Given the description of an element on the screen output the (x, y) to click on. 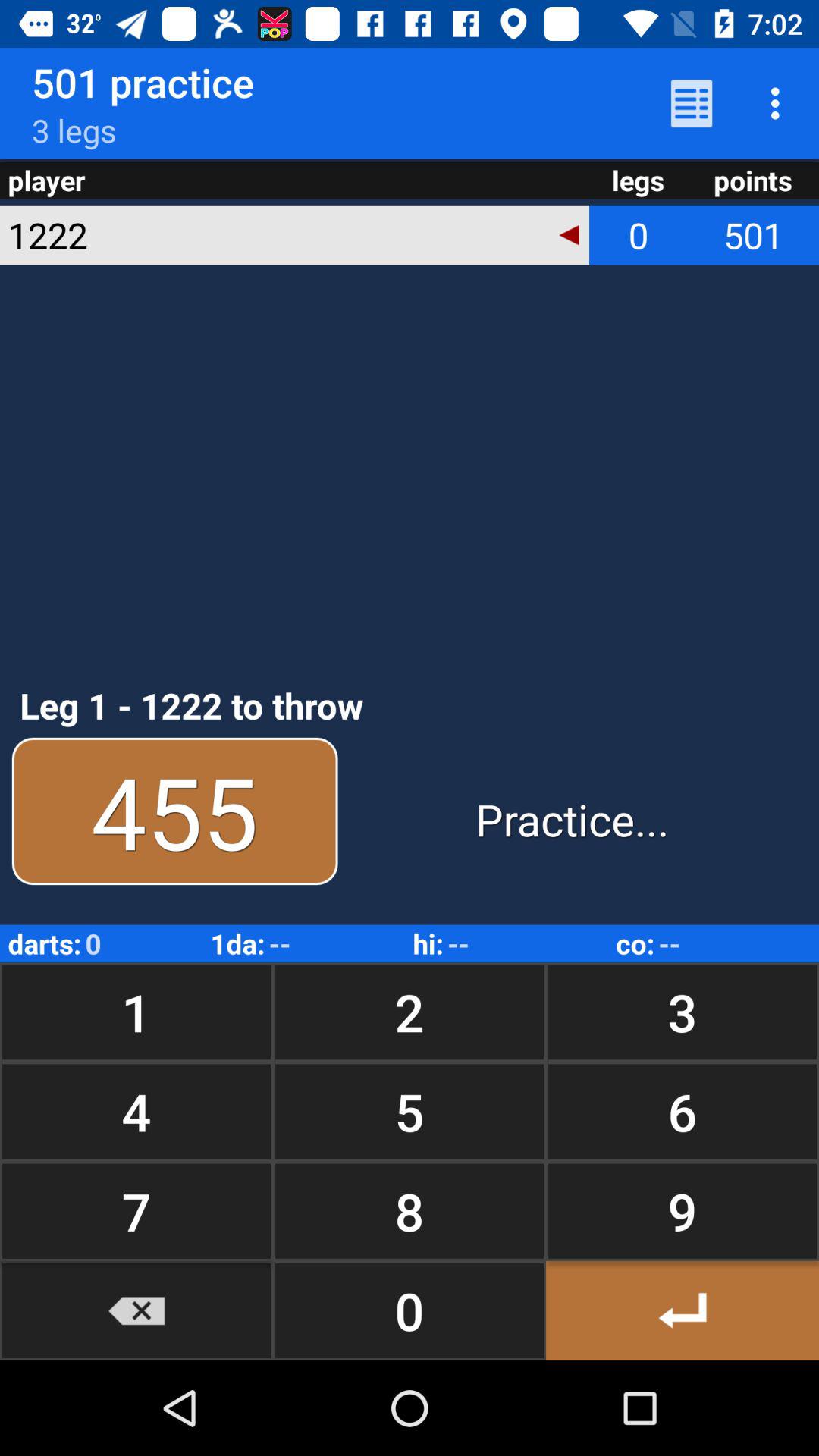
scroll until 2 icon (409, 1011)
